Given the description of an element on the screen output the (x, y) to click on. 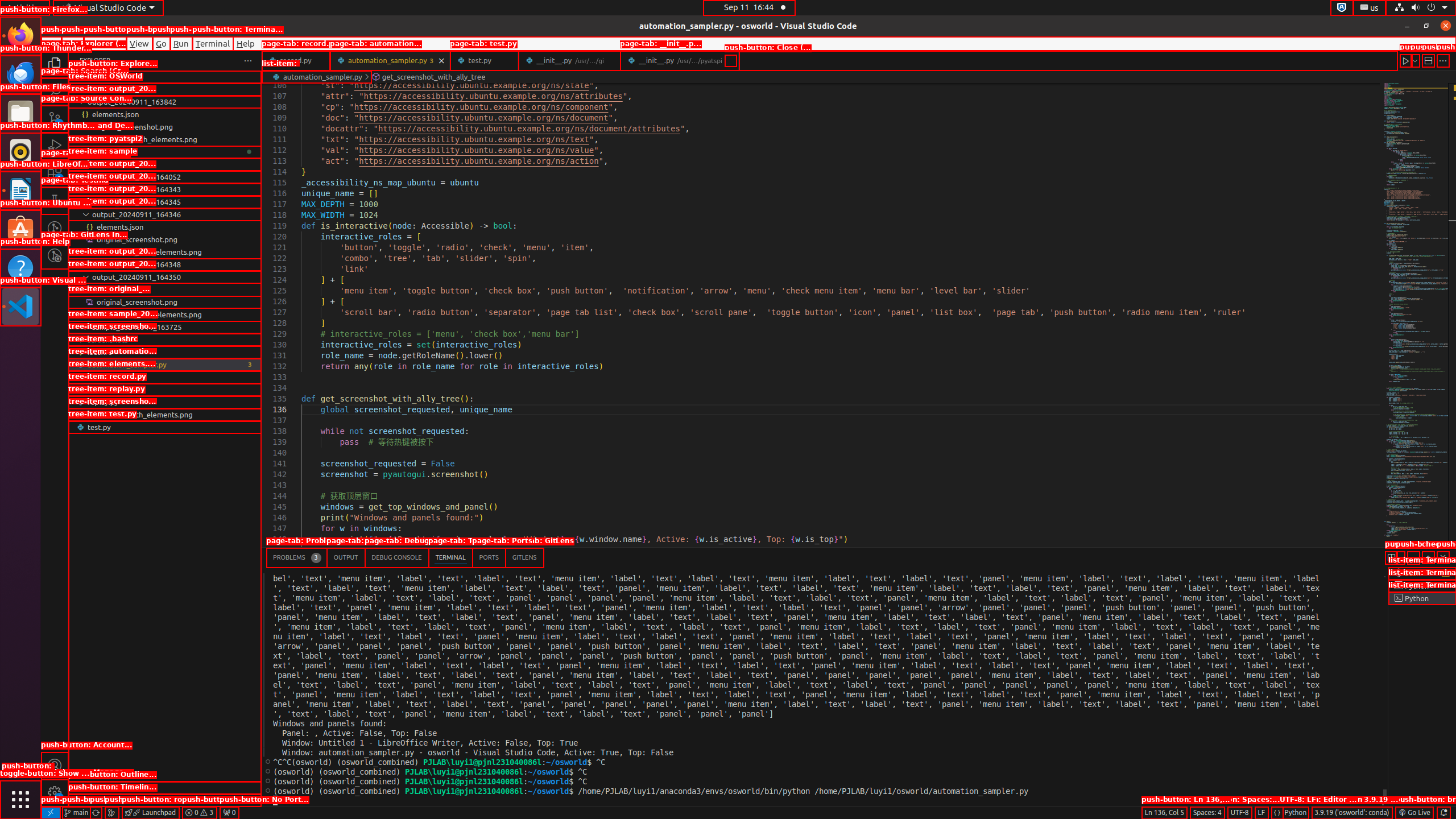
3.9.19 ('osworld': conda), ~/anaconda3/envs/osworld/bin/python Element type: push-button (1351, 812)
output_20240911_164346 Element type: tree-item (164, 214)
output_20240911_164350 Element type: tree-item (164, 276)
Show the GitLens Commit Graph Element type: push-button (111, 812)
